Given the description of an element on the screen output the (x, y) to click on. 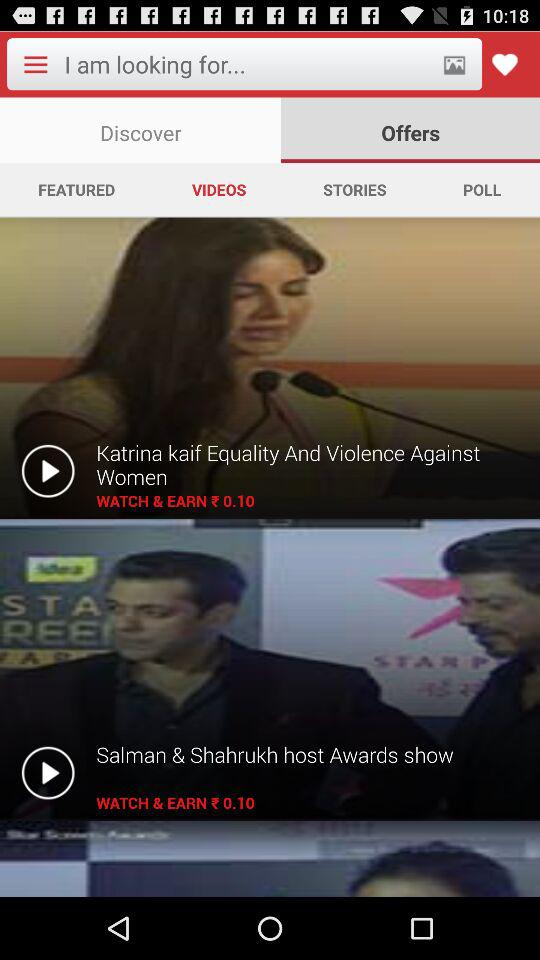
search (246, 64)
